Given the description of an element on the screen output the (x, y) to click on. 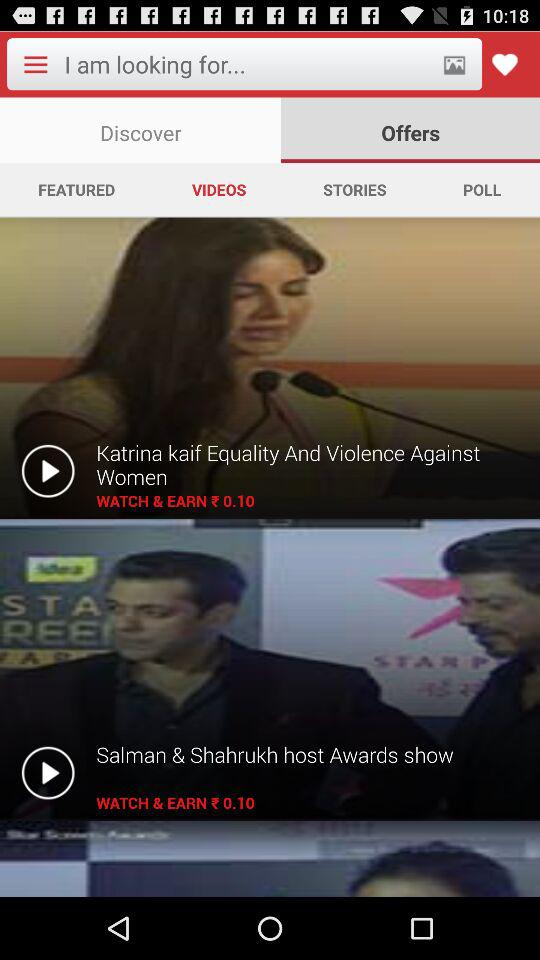
search (246, 64)
